Given the description of an element on the screen output the (x, y) to click on. 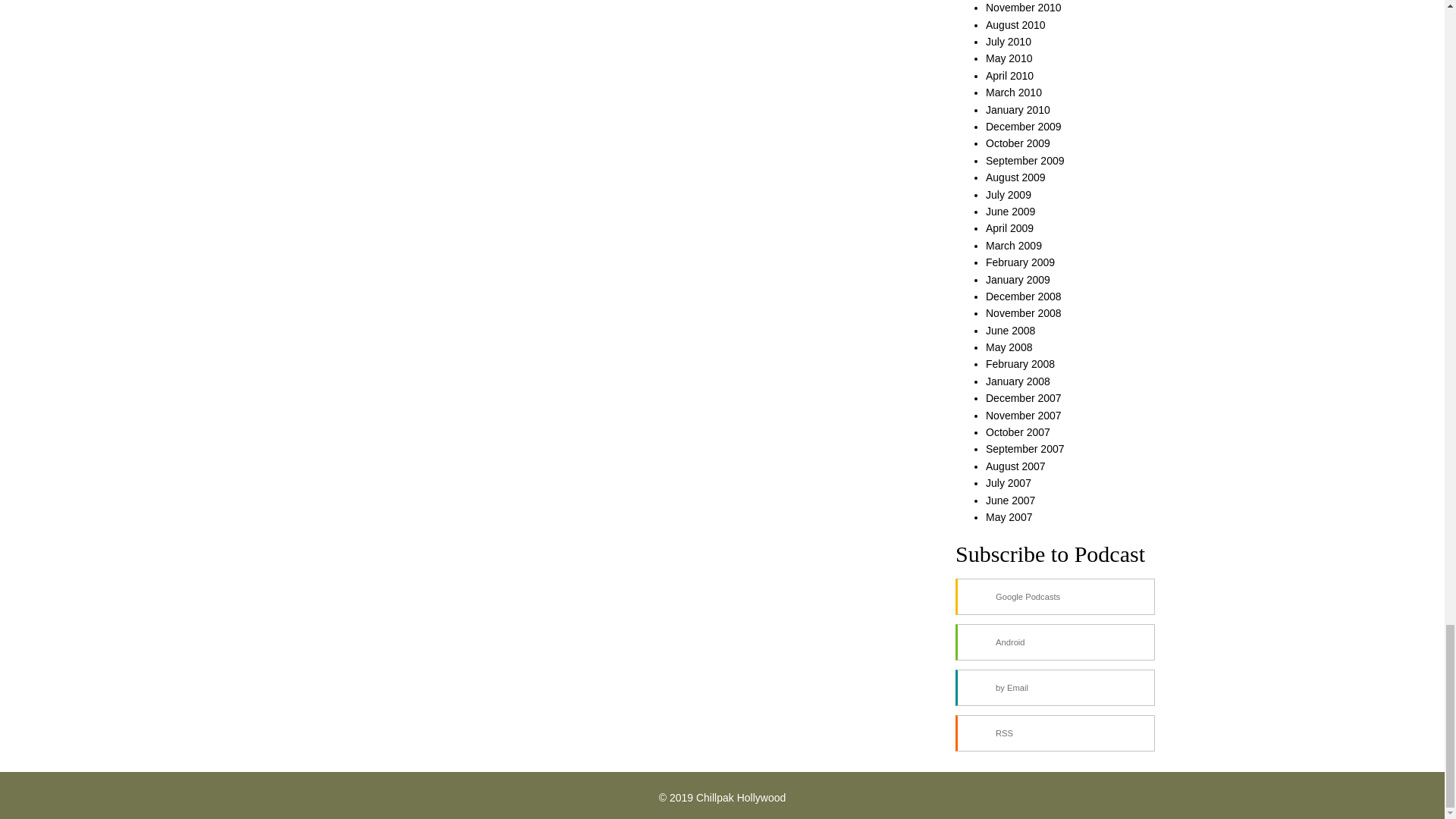
Subscribe on Android (1054, 642)
Subscribe on Google Podcasts (1054, 596)
Subscribe via RSS (1054, 732)
Subscribe by Email (1054, 687)
